Given the description of an element on the screen output the (x, y) to click on. 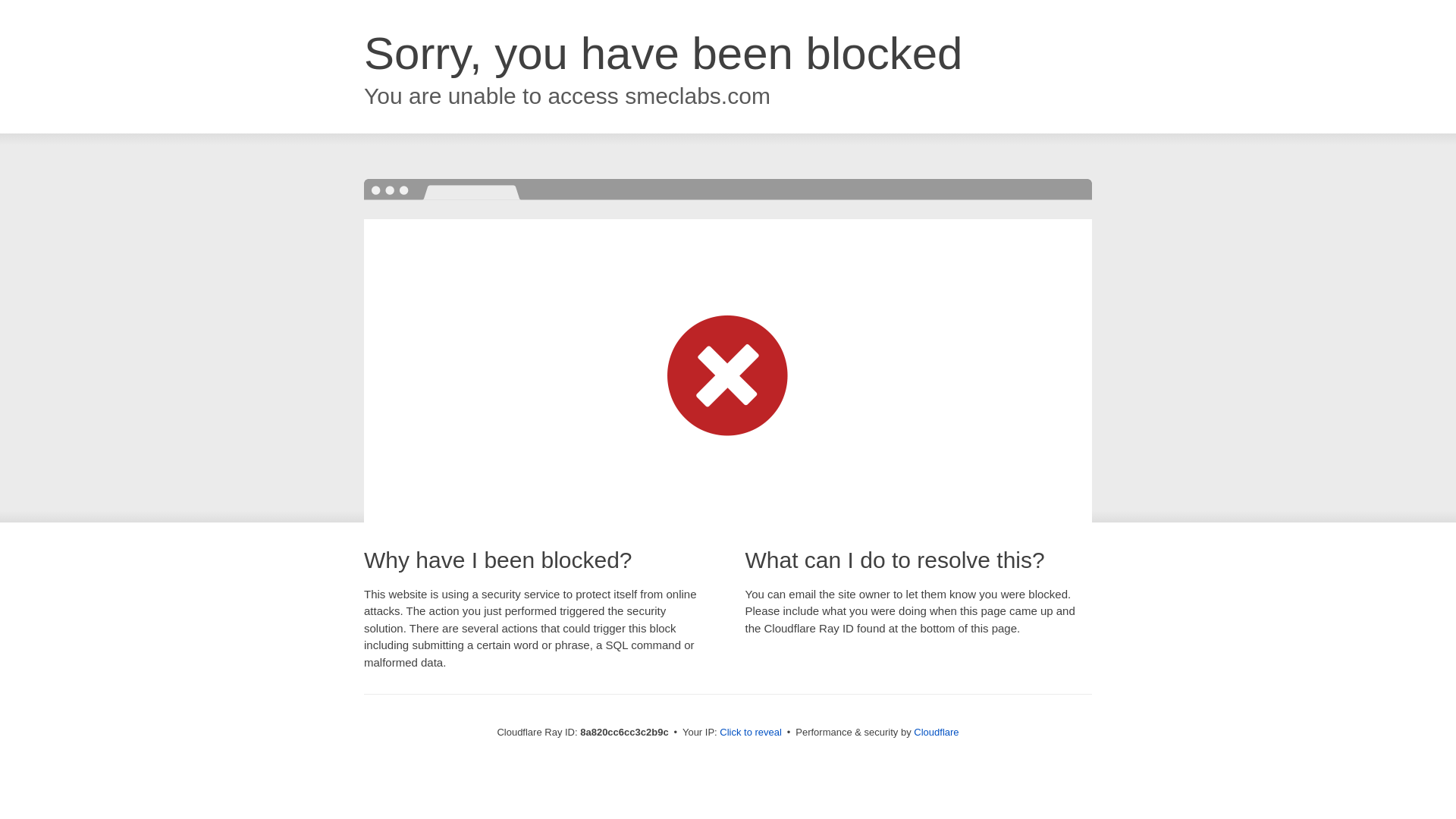
Cloudflare (936, 731)
Click to reveal (750, 732)
